Given the description of an element on the screen output the (x, y) to click on. 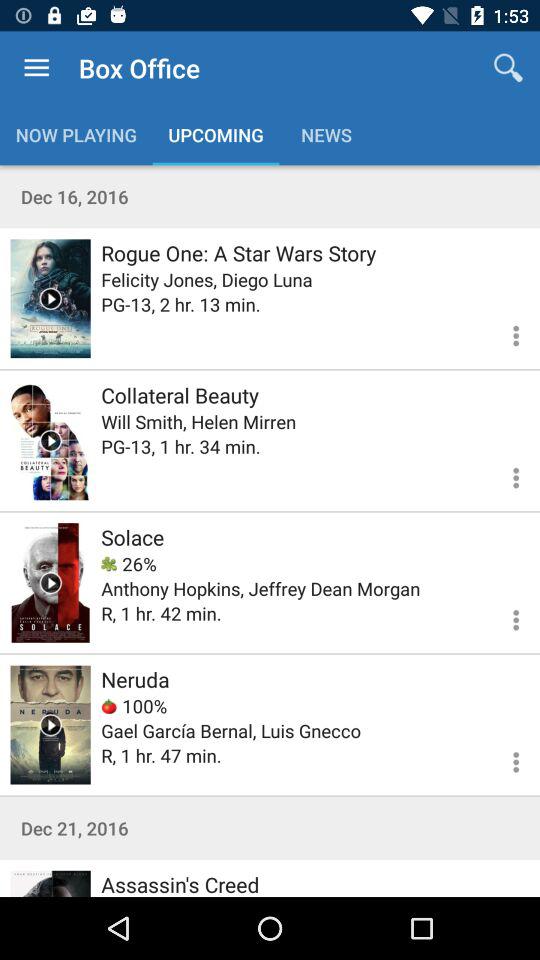
press item above 100% (135, 679)
